Given the description of an element on the screen output the (x, y) to click on. 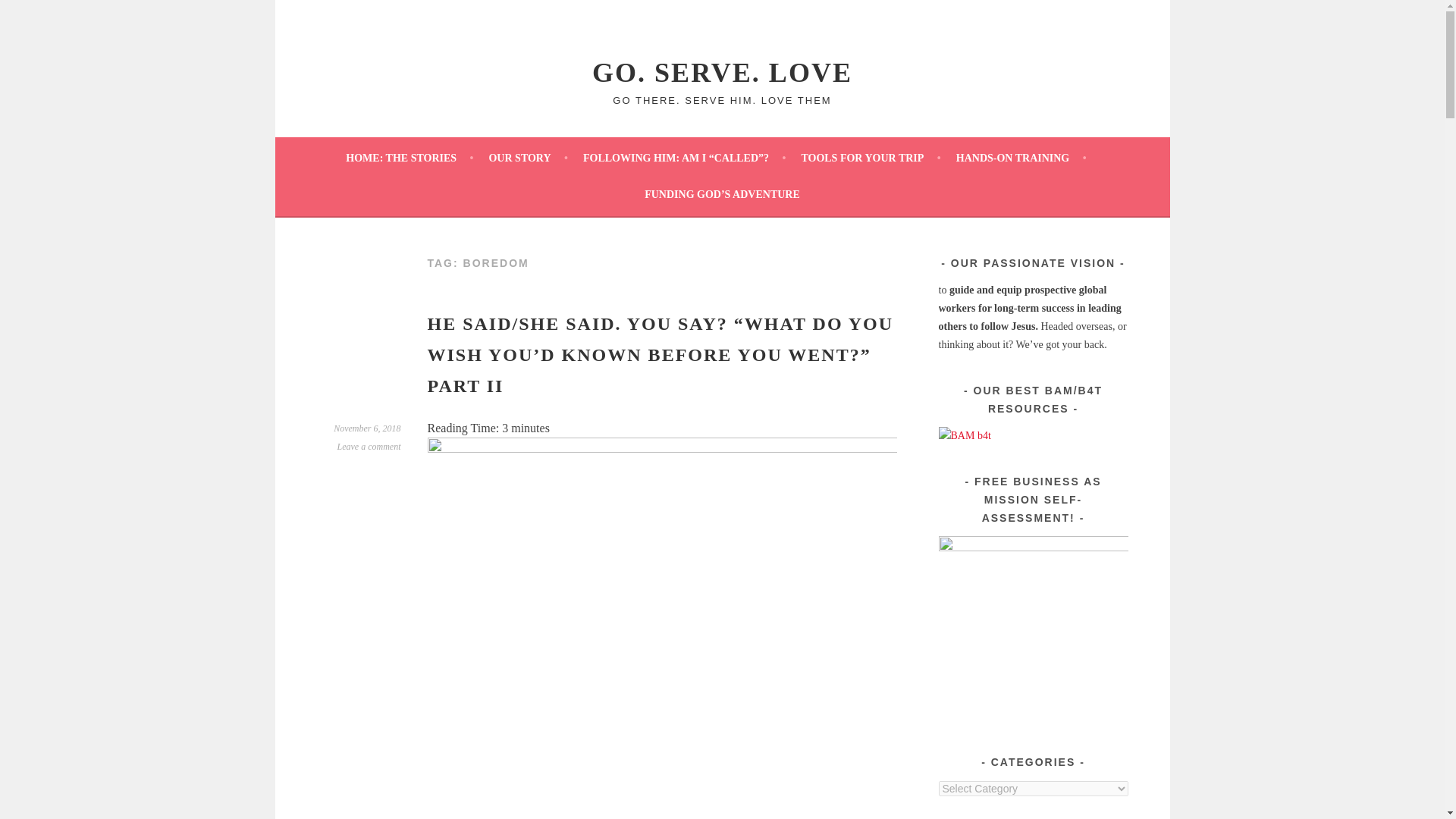
Leave a comment (369, 446)
HANDS-ON TRAINING (1021, 158)
TOOLS FOR YOUR TRIP (870, 158)
Search (30, 13)
HOME: THE STORIES (409, 158)
GO. SERVE. LOVE (721, 72)
OUR STORY (527, 158)
Go. Serve. Love (721, 72)
November 6, 2018 (366, 428)
